Given the description of an element on the screen output the (x, y) to click on. 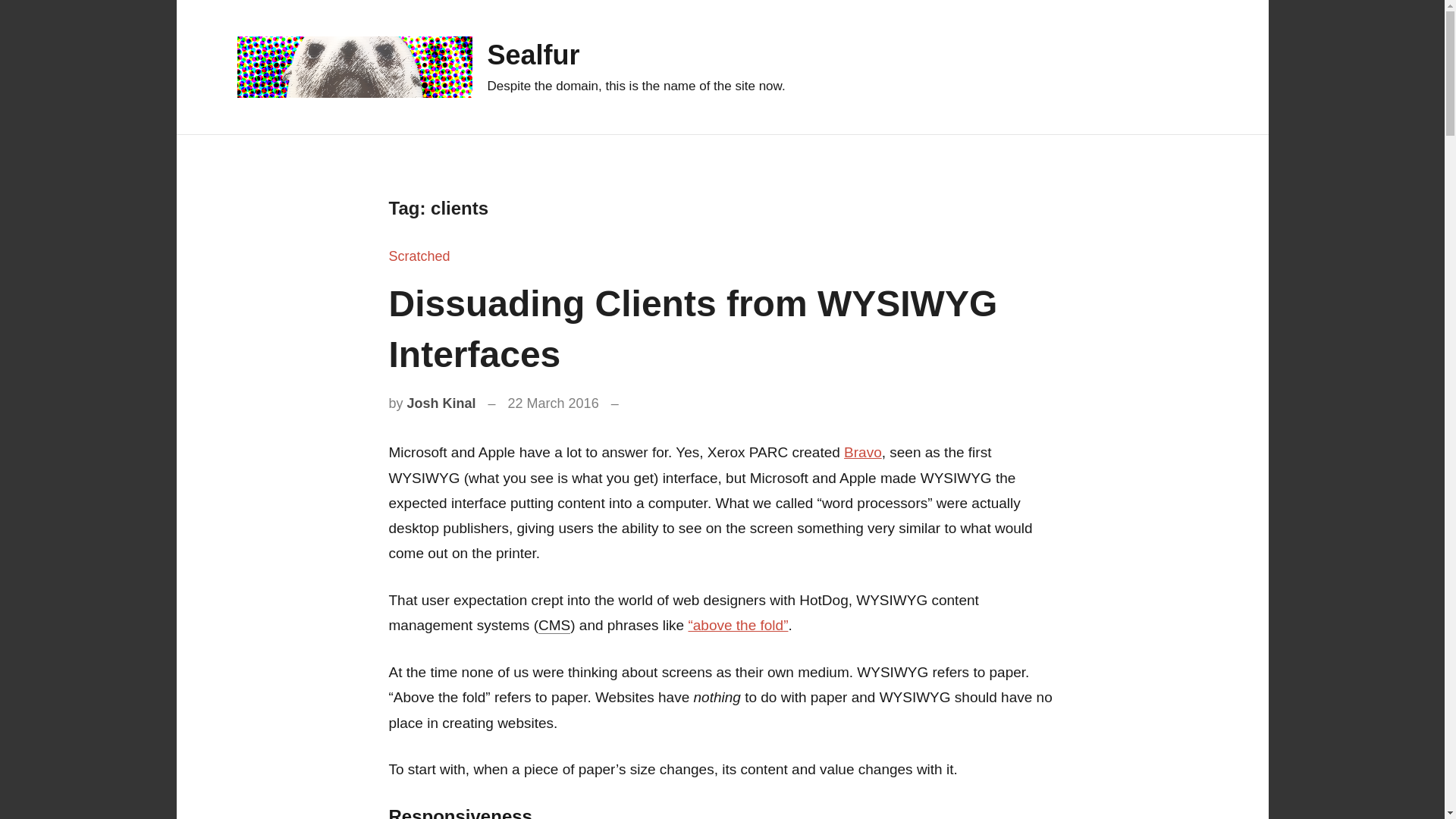
Josh Kinal (441, 403)
Sealfur (532, 54)
View all posts by Josh Kinal (441, 403)
22 March 2016 (553, 403)
Dissuading Clients from WYSIWYG Interfaces (692, 328)
Bravo (863, 452)
Scratched (418, 255)
